Given the description of an element on the screen output the (x, y) to click on. 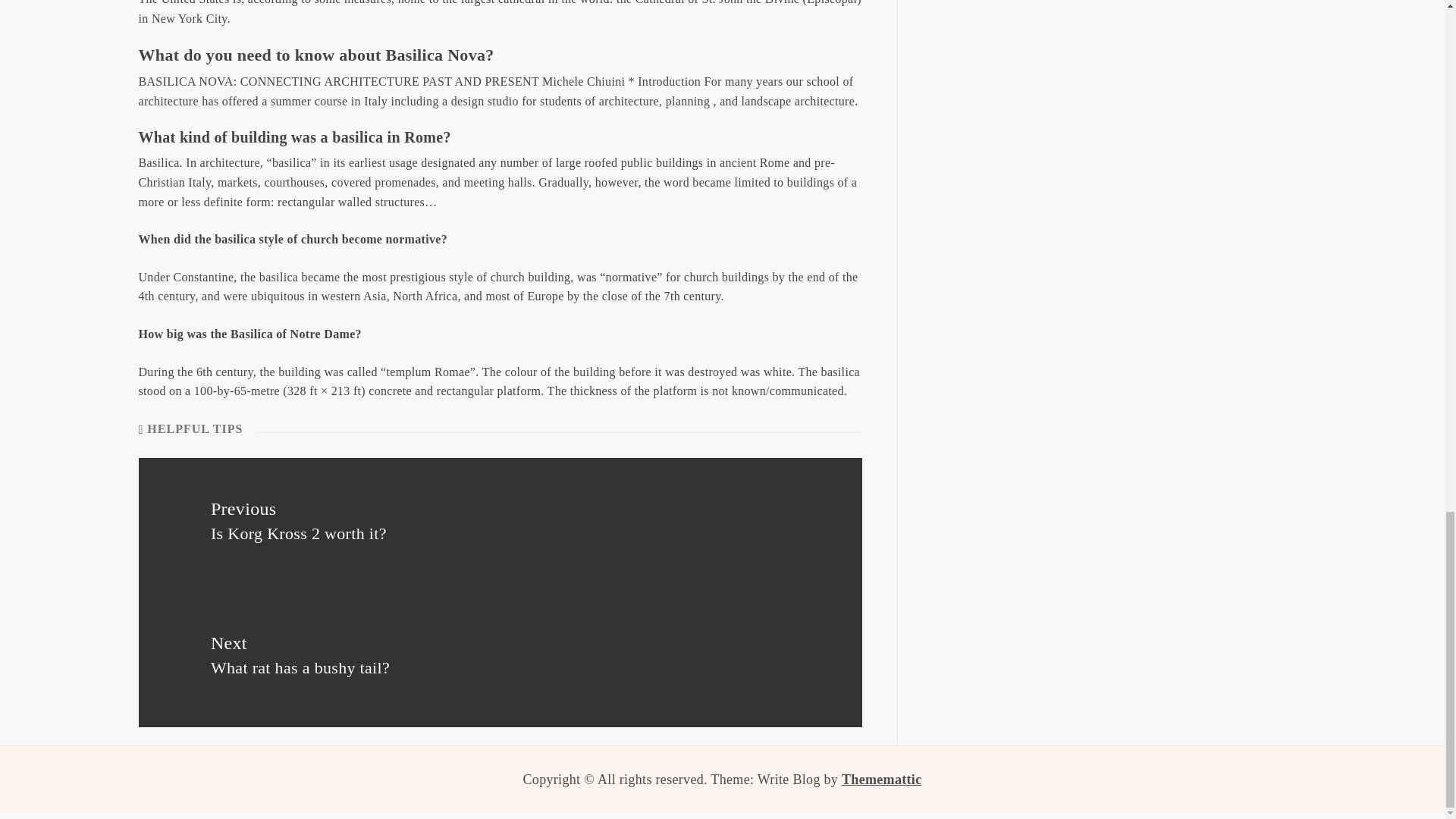
HELPFUL TIPS (499, 659)
